Given the description of an element on the screen output the (x, y) to click on. 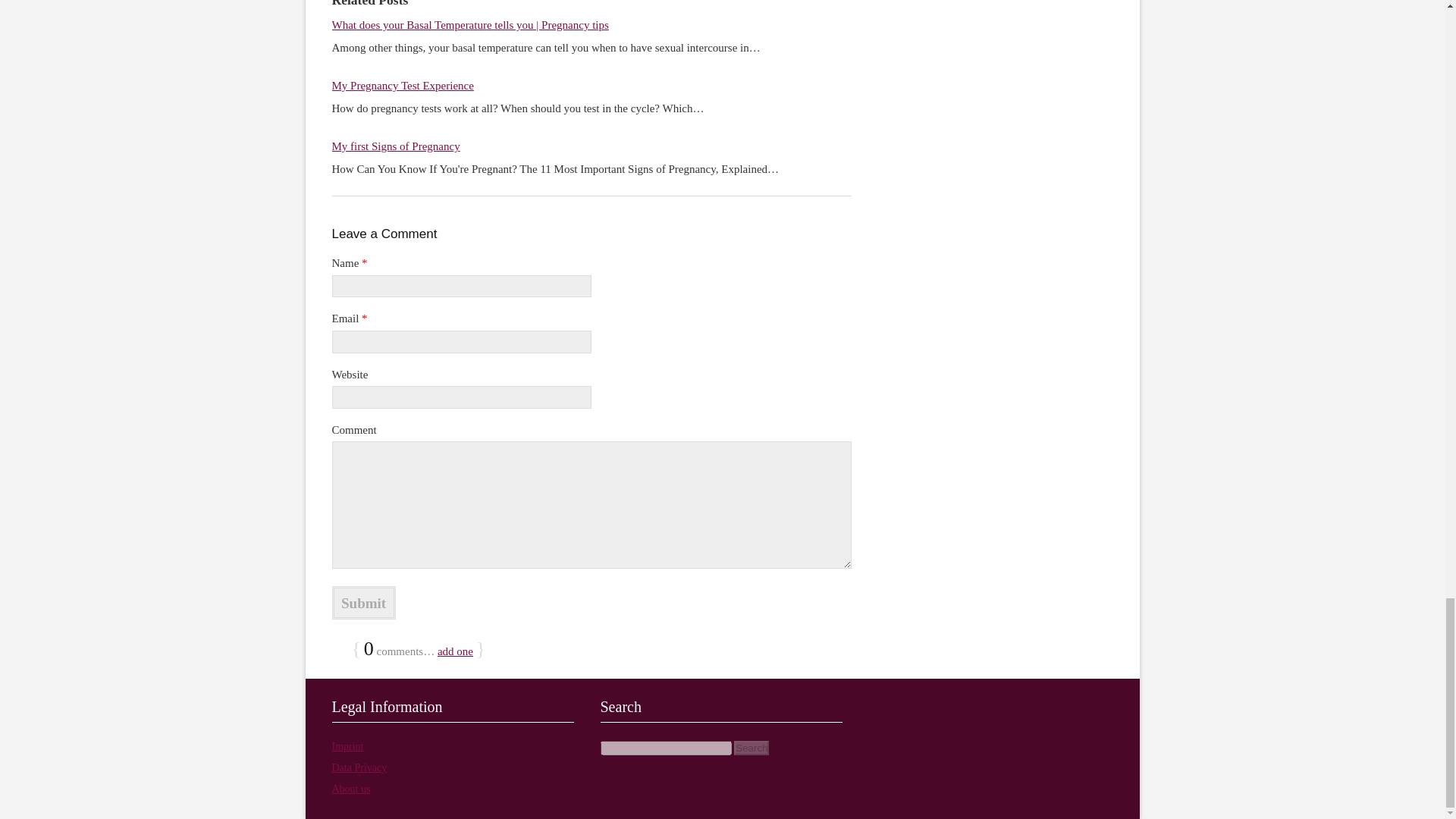
Imprint (347, 746)
My Pregnancy Test Experience (402, 85)
Submit (363, 602)
About us (351, 788)
Search (750, 748)
Search (750, 748)
My first Signs of Pregnancy (395, 146)
Submit (363, 602)
add one (455, 651)
Data Privacy (359, 767)
